Given the description of an element on the screen output the (x, y) to click on. 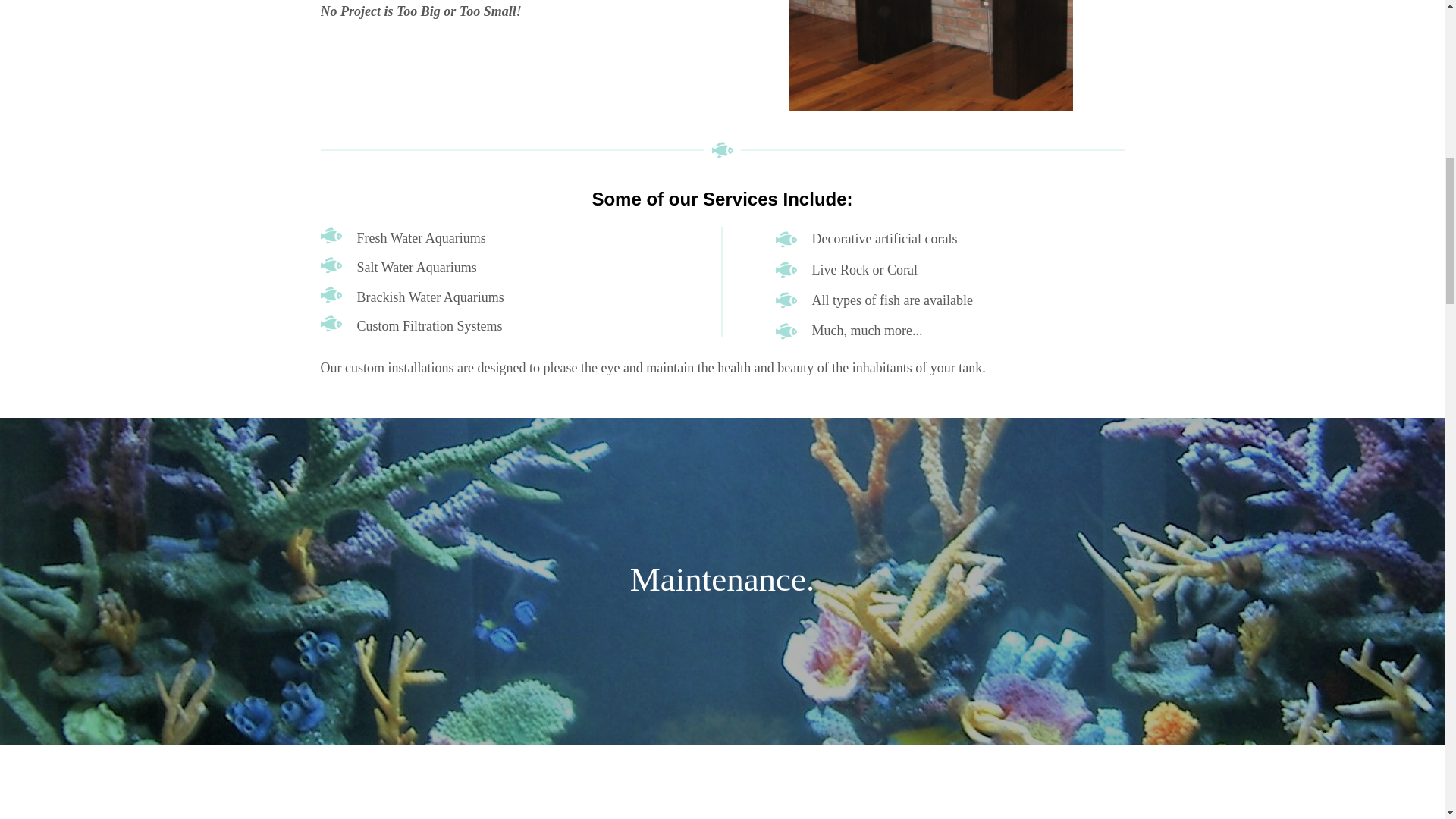
Aquarius Aquariums (785, 239)
Aquarius Aquariums (330, 294)
Aquarius Aquariums (330, 235)
Aquarius Aquariums (785, 330)
Aquarius Aquariums (330, 265)
Aquarius Aquariums (721, 149)
Aquarius Aquariums (785, 269)
Aquarius Aquariums (785, 299)
Aquarius Aquariums (330, 323)
